Given the description of an element on the screen output the (x, y) to click on. 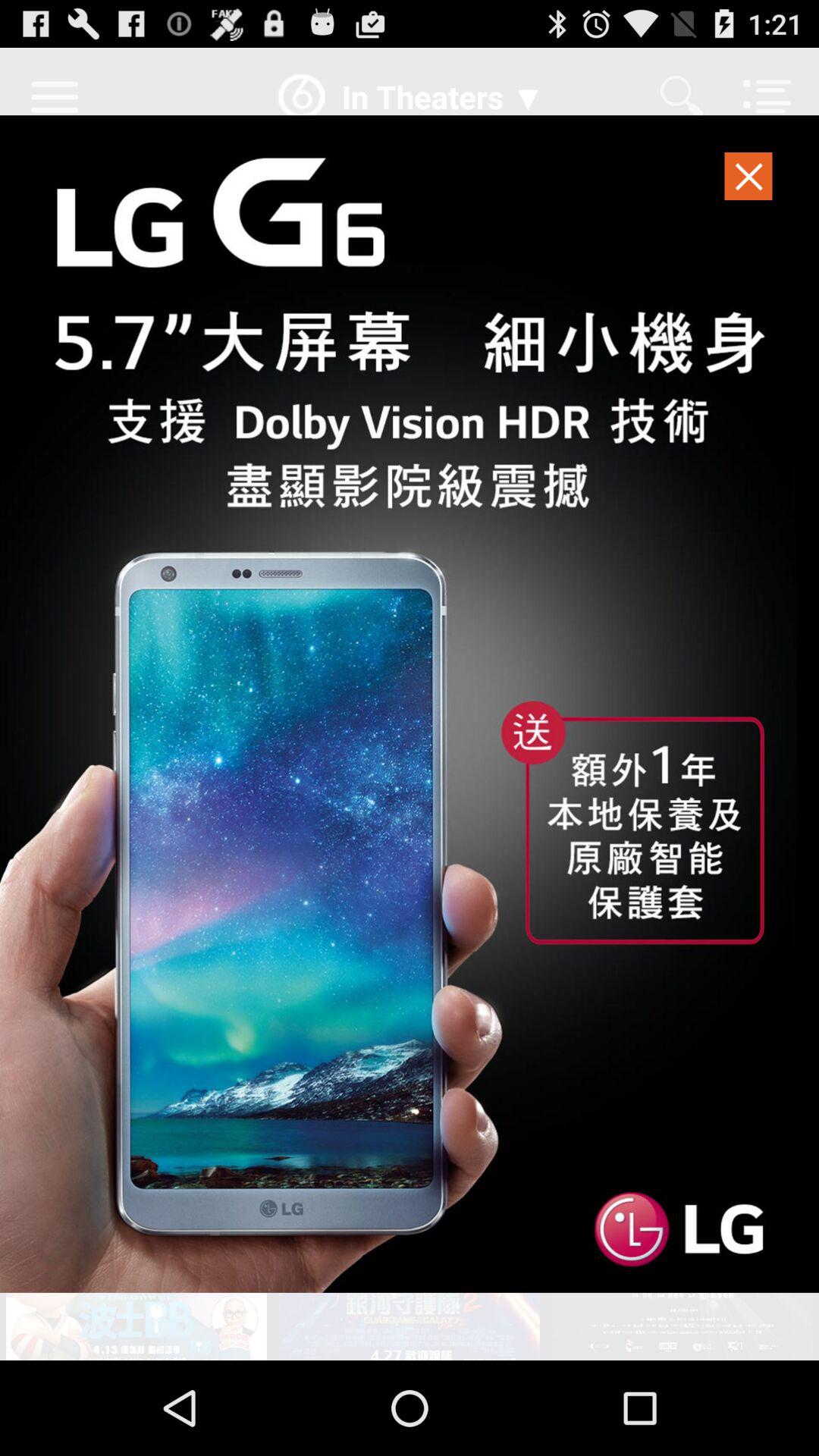
close (749, 180)
